Given the description of an element on the screen output the (x, y) to click on. 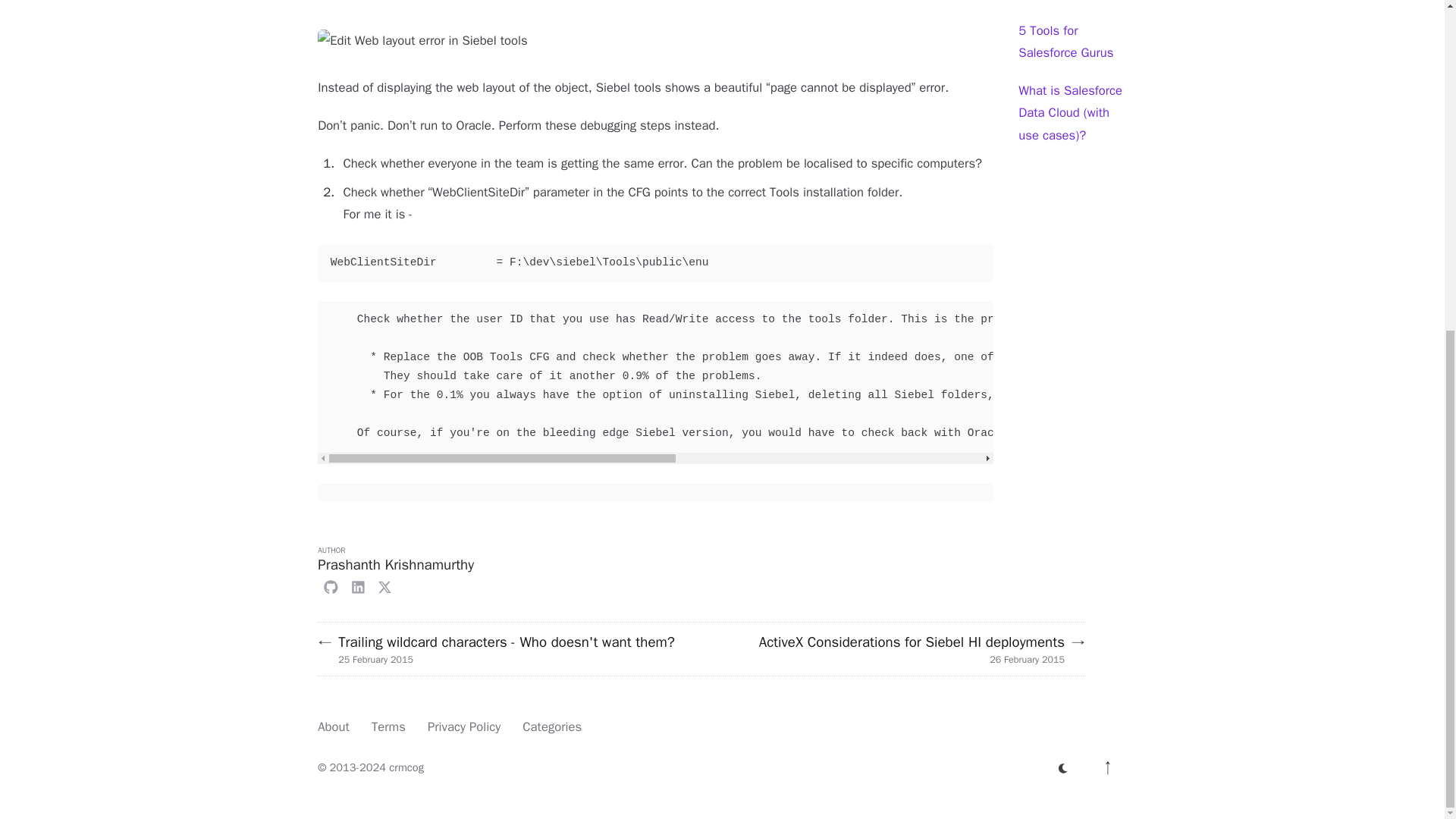
Categories (551, 726)
About crmcog (333, 726)
Terms (388, 726)
Terms (388, 726)
Categories (551, 726)
Privacy Policy (464, 726)
Privacy Policy (464, 726)
About (333, 726)
